Given the description of an element on the screen output the (x, y) to click on. 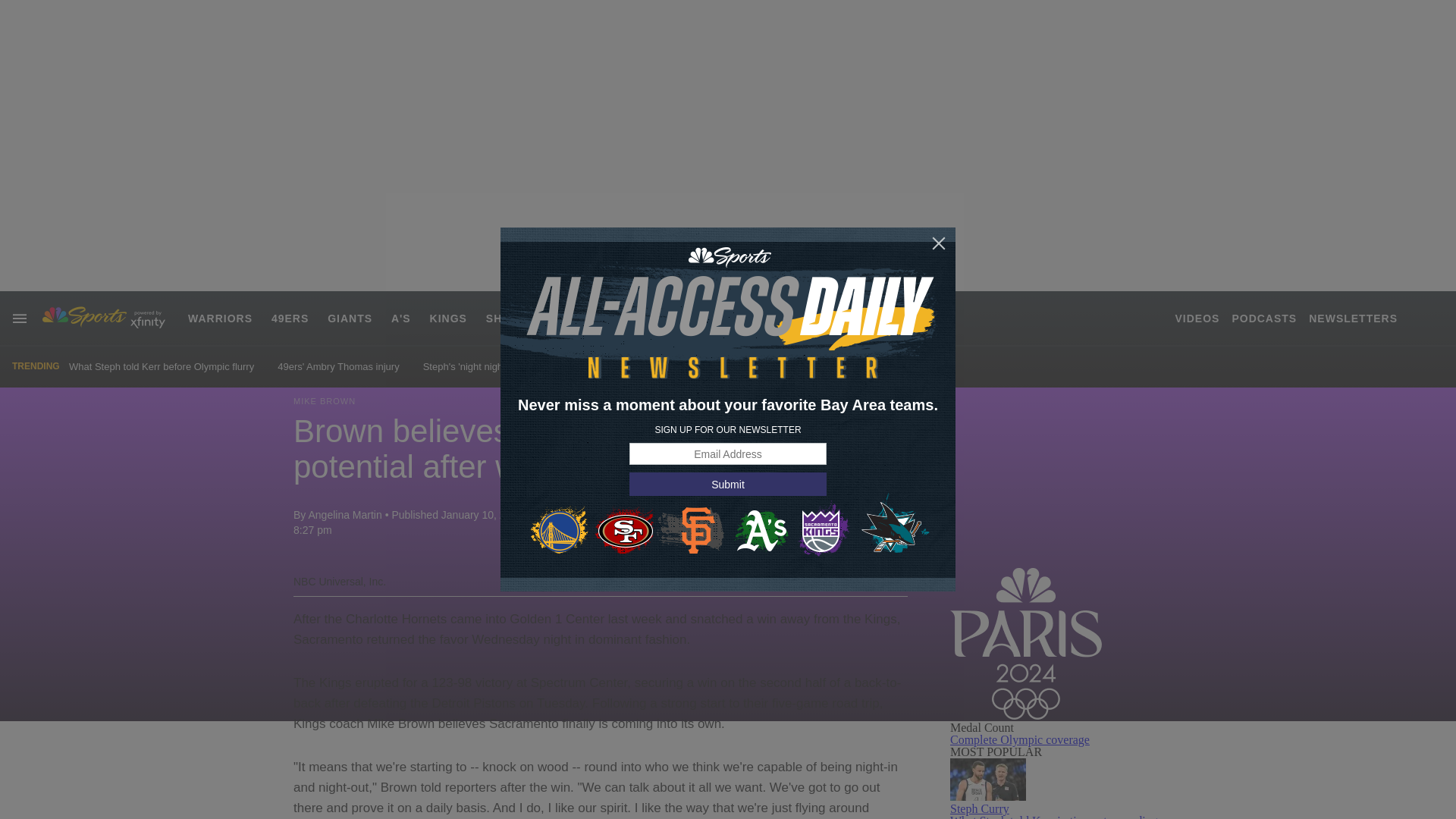
Angelina Martin (344, 514)
What Steph told Kerr before Olympic flurry (160, 366)
49ERS (289, 318)
NEWSLETTERS (1352, 318)
Steph's 'night night' to Draymond (495, 366)
VIDEOS (1197, 318)
A'S (400, 318)
49ers' Ambry Thomas injury (338, 366)
GIANTS (349, 318)
WARRIORS (219, 318)
